Given the description of an element on the screen output the (x, y) to click on. 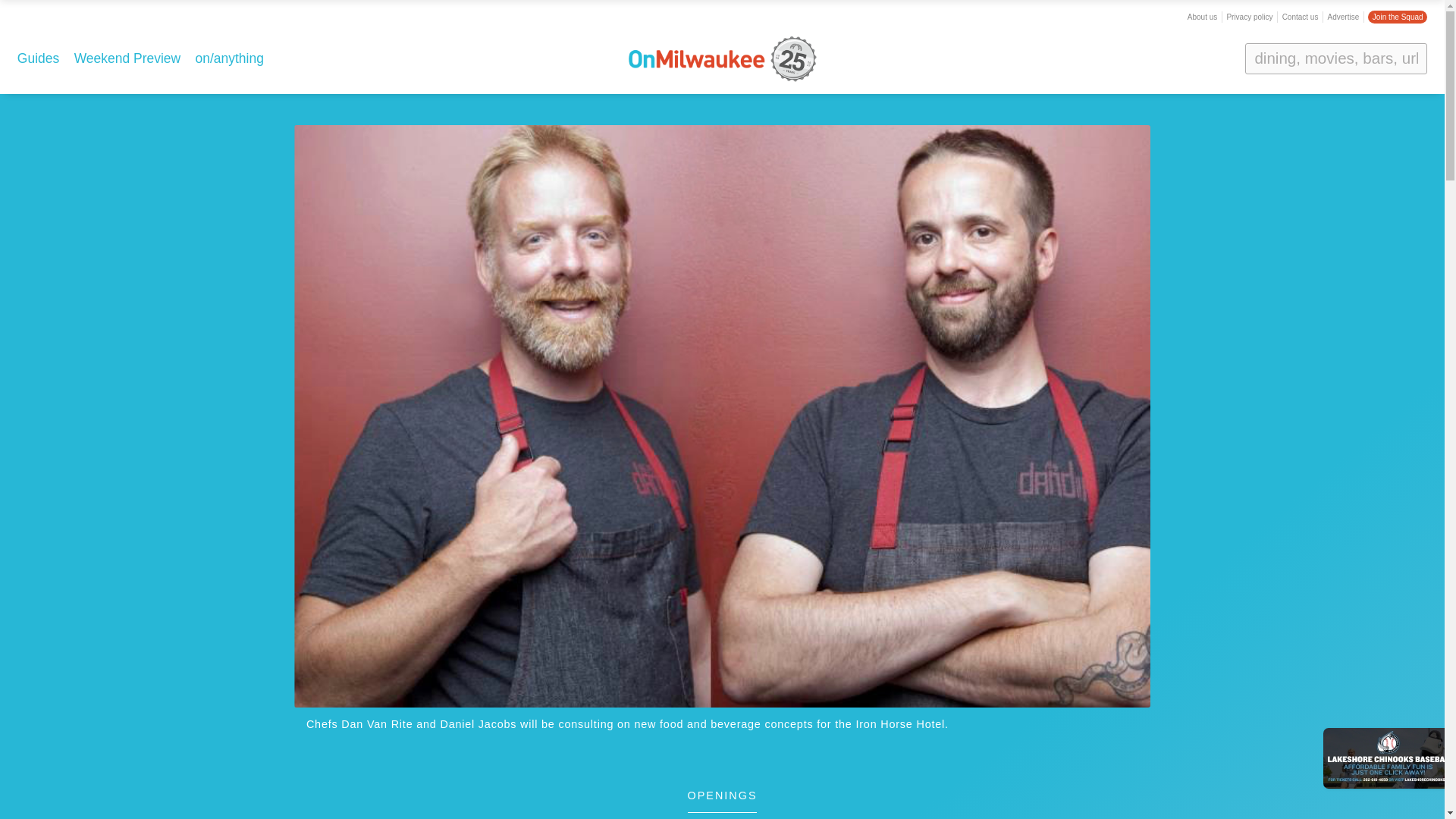
Guides (38, 58)
Join the Squad (1397, 16)
Privacy policy (1248, 17)
dining, movies, bars, urban spelunking (1335, 58)
About us (1202, 17)
Weekend Preview (127, 58)
Advertise (1343, 17)
dining, movies, bars, urban spelunking (1335, 58)
Contact us (1300, 17)
OPENINGS (722, 801)
